Given the description of an element on the screen output the (x, y) to click on. 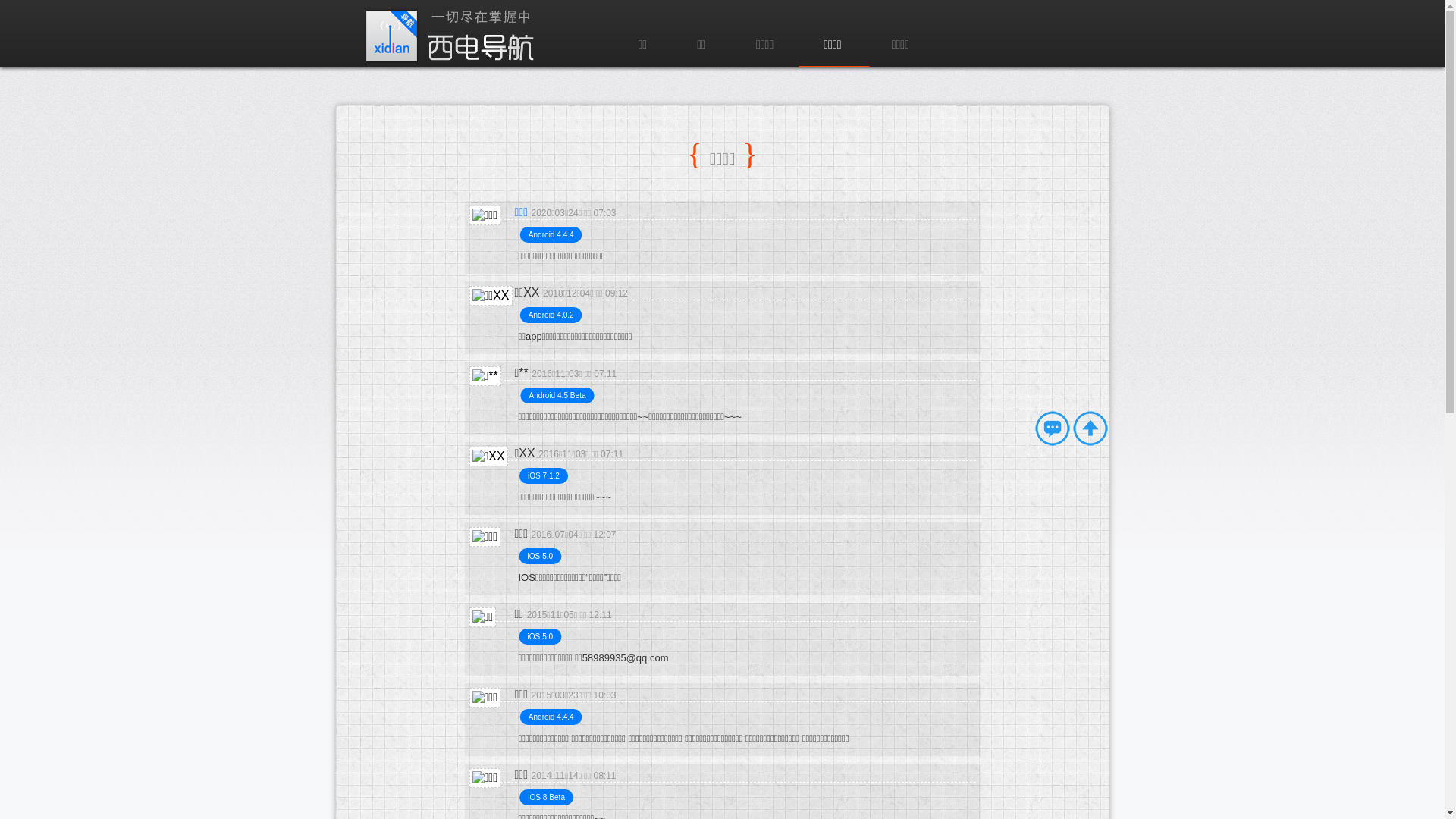
Android 4.0.2 Element type: text (552, 315)
iOS 5.0 Element type: text (541, 637)
Android 4.5 Beta Element type: text (560, 395)
Android 4.4.4 Element type: text (552, 717)
Android 4.4.4 Element type: text (552, 235)
iOS 5.0 Element type: text (541, 556)
iOS 8 Beta Element type: text (548, 797)
iOS 7.1.2 Element type: text (544, 476)
